Given the description of an element on the screen output the (x, y) to click on. 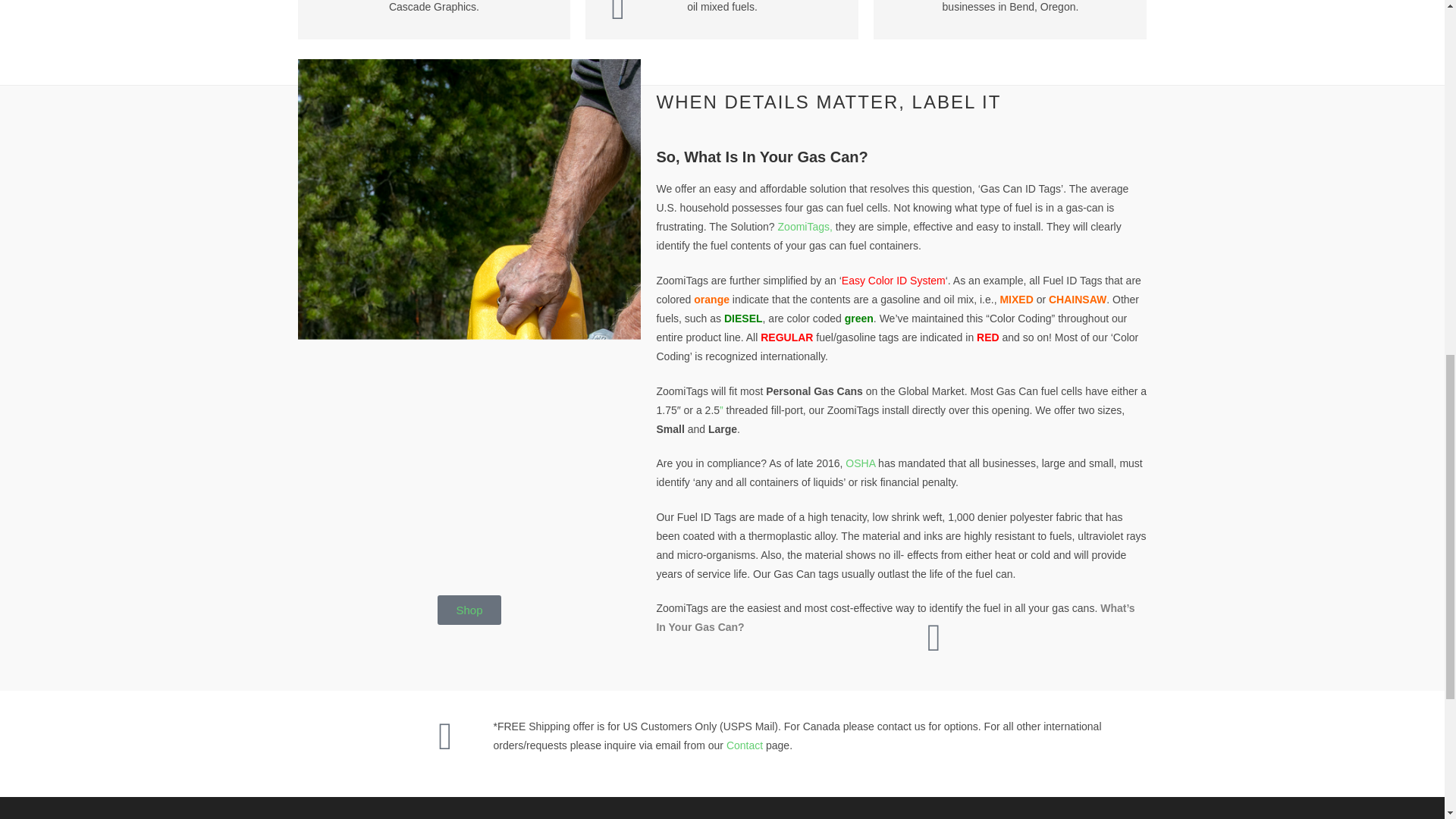
Shop (469, 609)
ZoomiTags, (803, 226)
OSHA (860, 463)
Contact (744, 745)
MIXED (1015, 299)
